Given the description of an element on the screen output the (x, y) to click on. 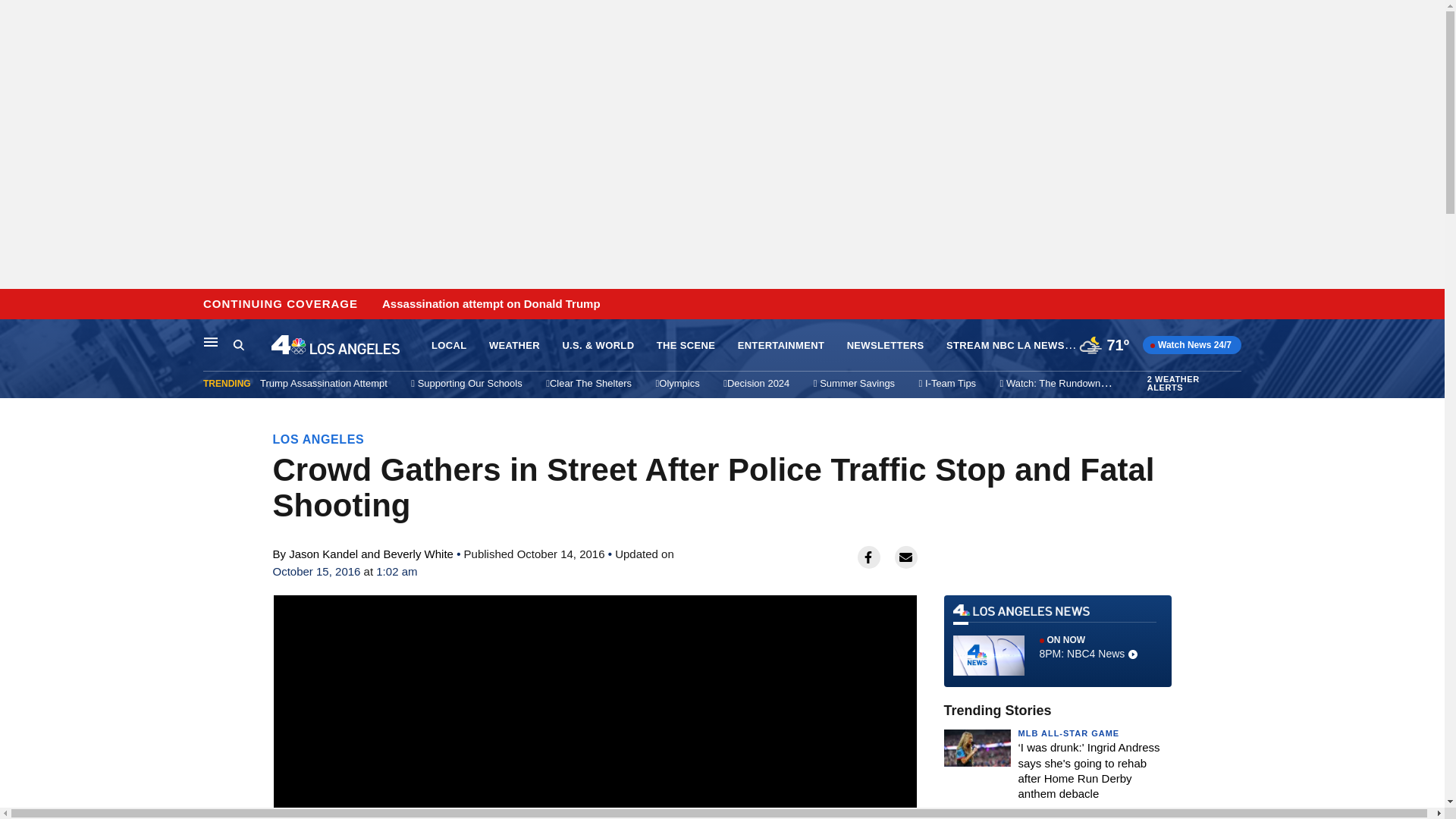
Assassination attempt on Donald Trump (490, 304)
ENTERTAINMENT (781, 345)
2 WEATHER ALERTS (1192, 383)
LOS ANGELES (319, 439)
Trump Assassination Attempt (323, 383)
Main Navigation (210, 341)
Search (238, 344)
THE SCENE (685, 345)
LOCAL (447, 345)
Skip to content (16, 304)
WEATHER (514, 345)
NEWSLETTERS (885, 345)
Search (252, 345)
